Given the description of an element on the screen output the (x, y) to click on. 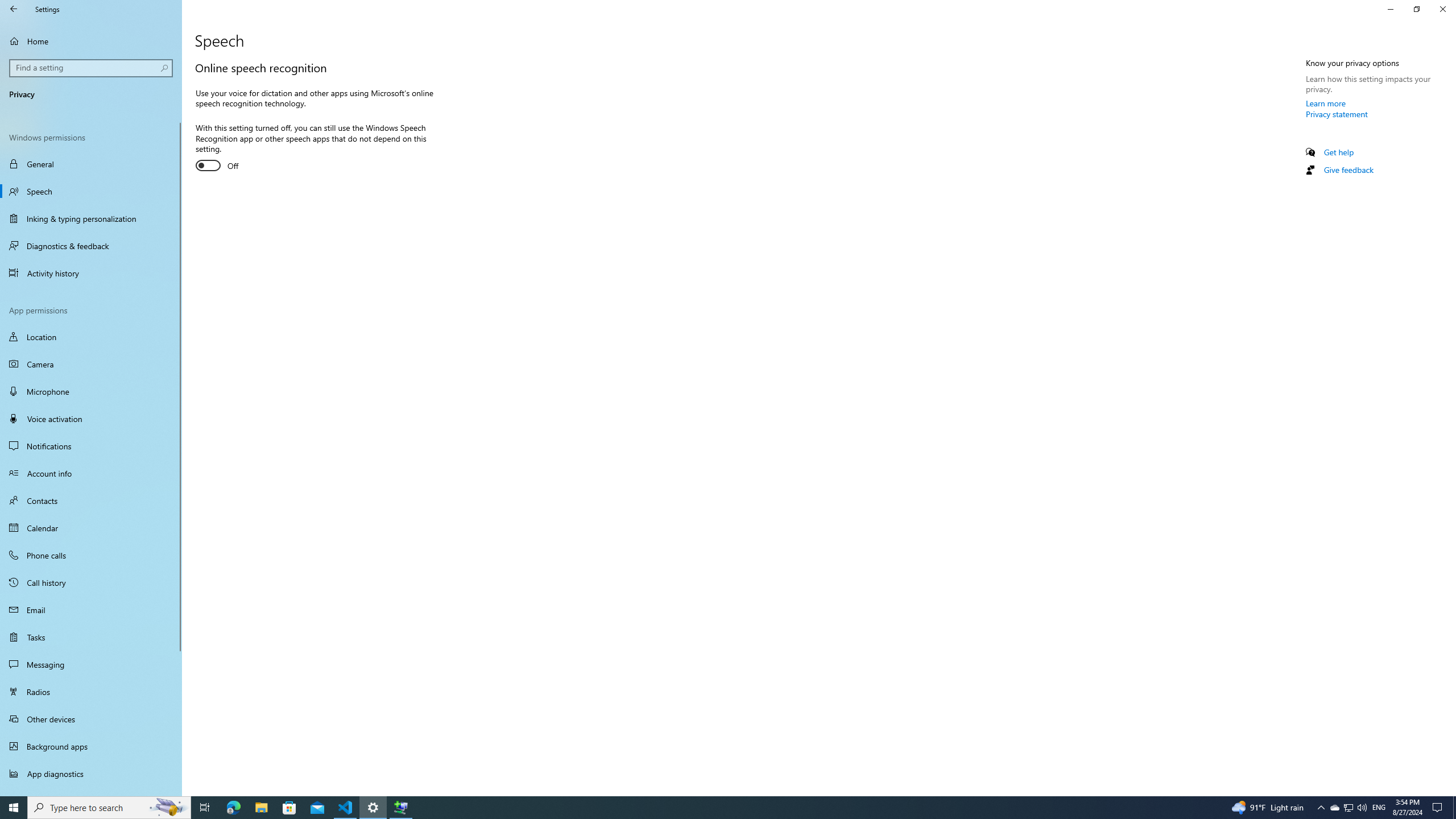
Radios (91, 691)
Call history (91, 582)
Contacts (91, 500)
App diagnostics (91, 773)
Speech (91, 190)
Extensible Wizards Host Process - 1 running window (400, 807)
